Given the description of an element on the screen output the (x, y) to click on. 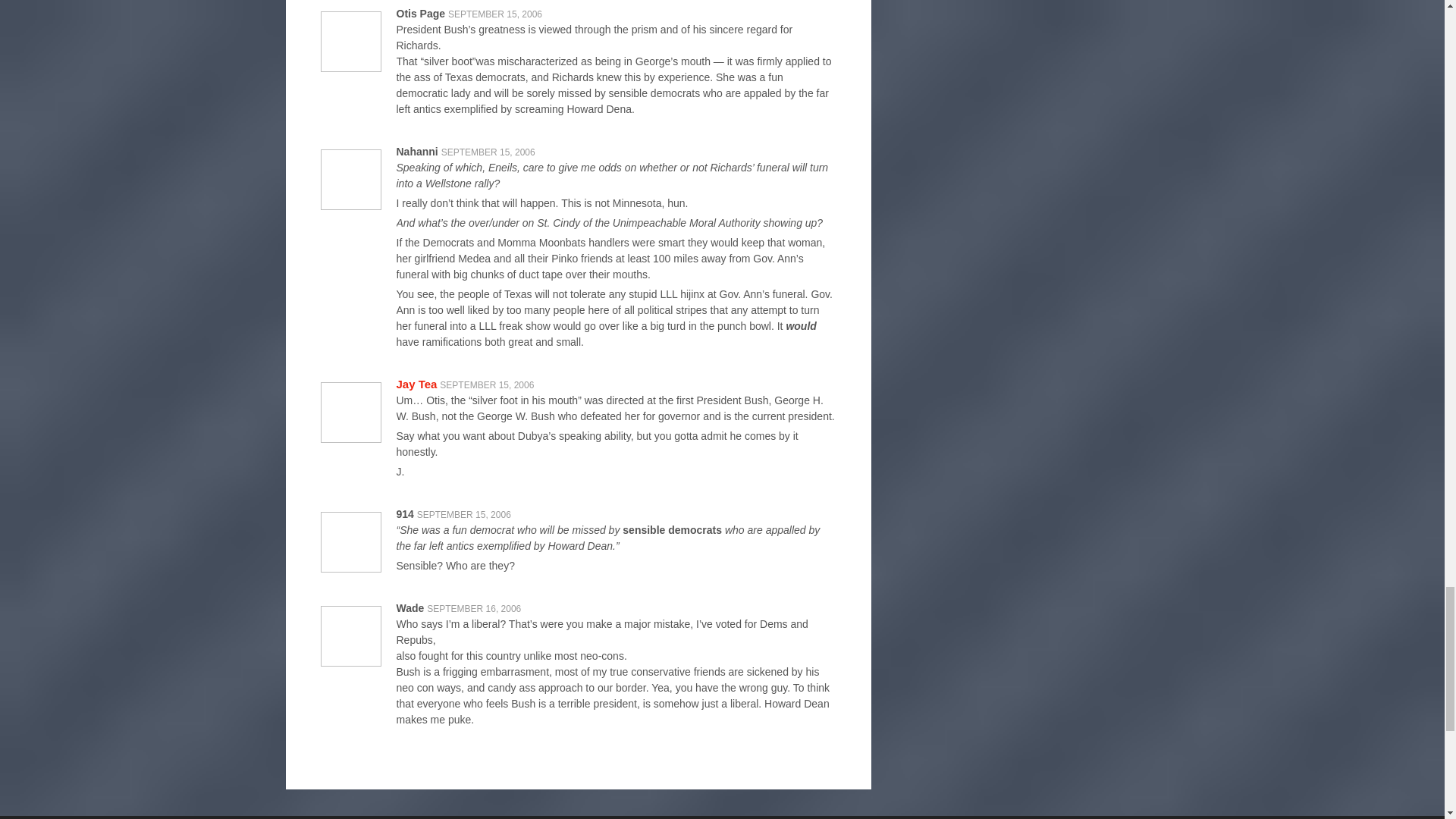
Jay Tea (416, 383)
